Given the description of an element on the screen output the (x, y) to click on. 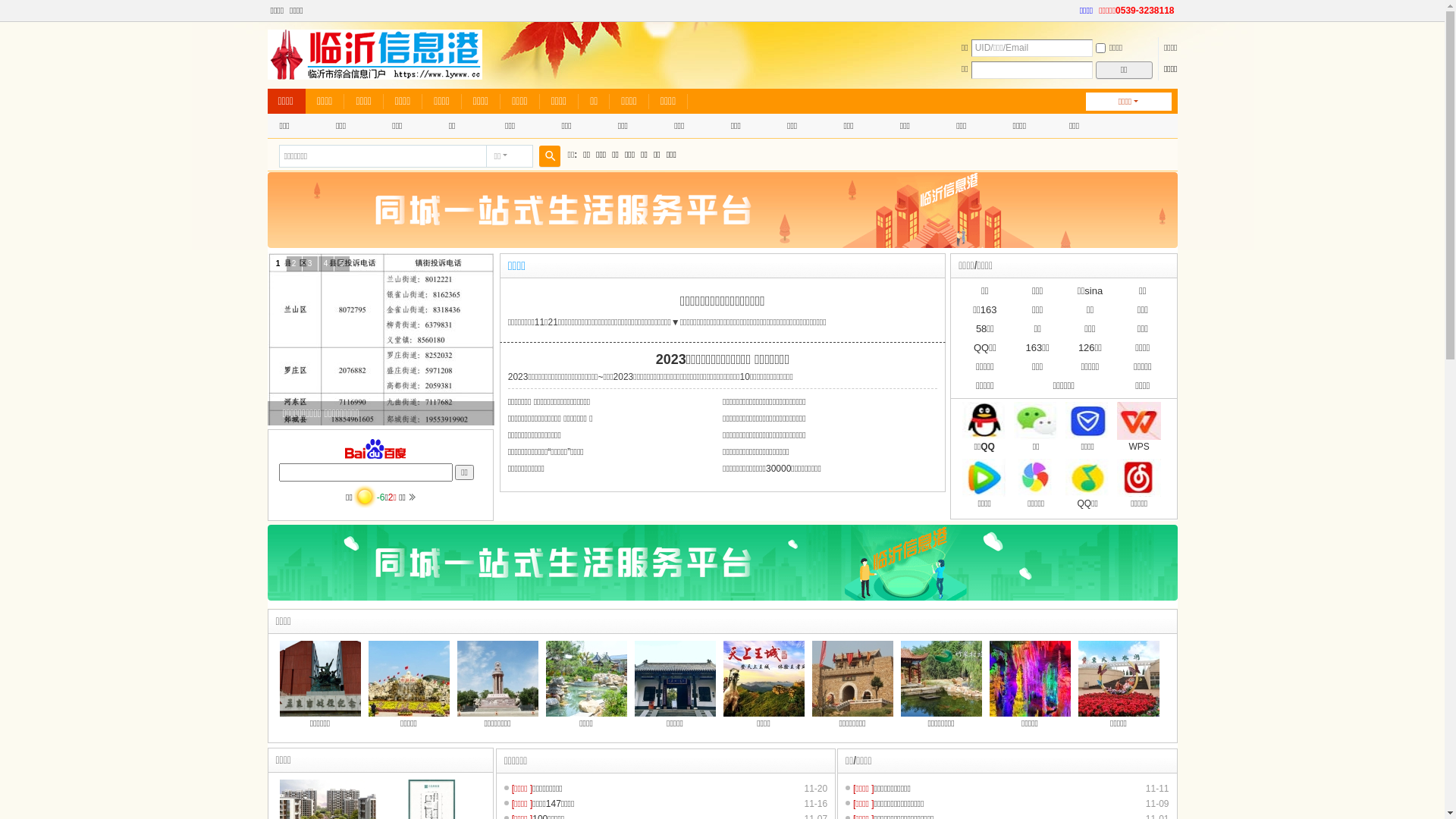
true Element type: text (548, 155)
WPS Element type: text (1139, 446)
